Given the description of an element on the screen output the (x, y) to click on. 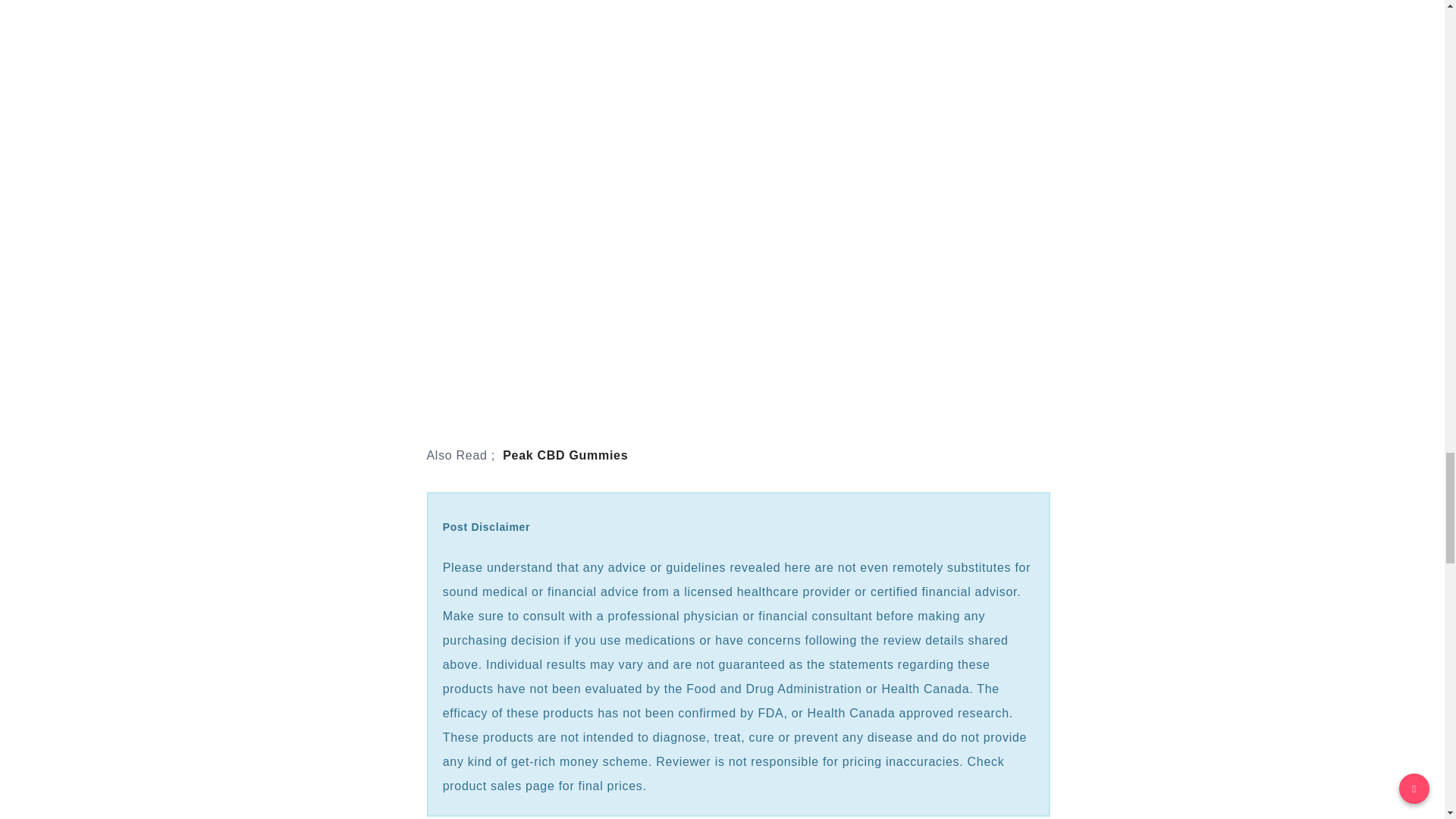
Peak CBD Gummies (564, 454)
